Given the description of an element on the screen output the (x, y) to click on. 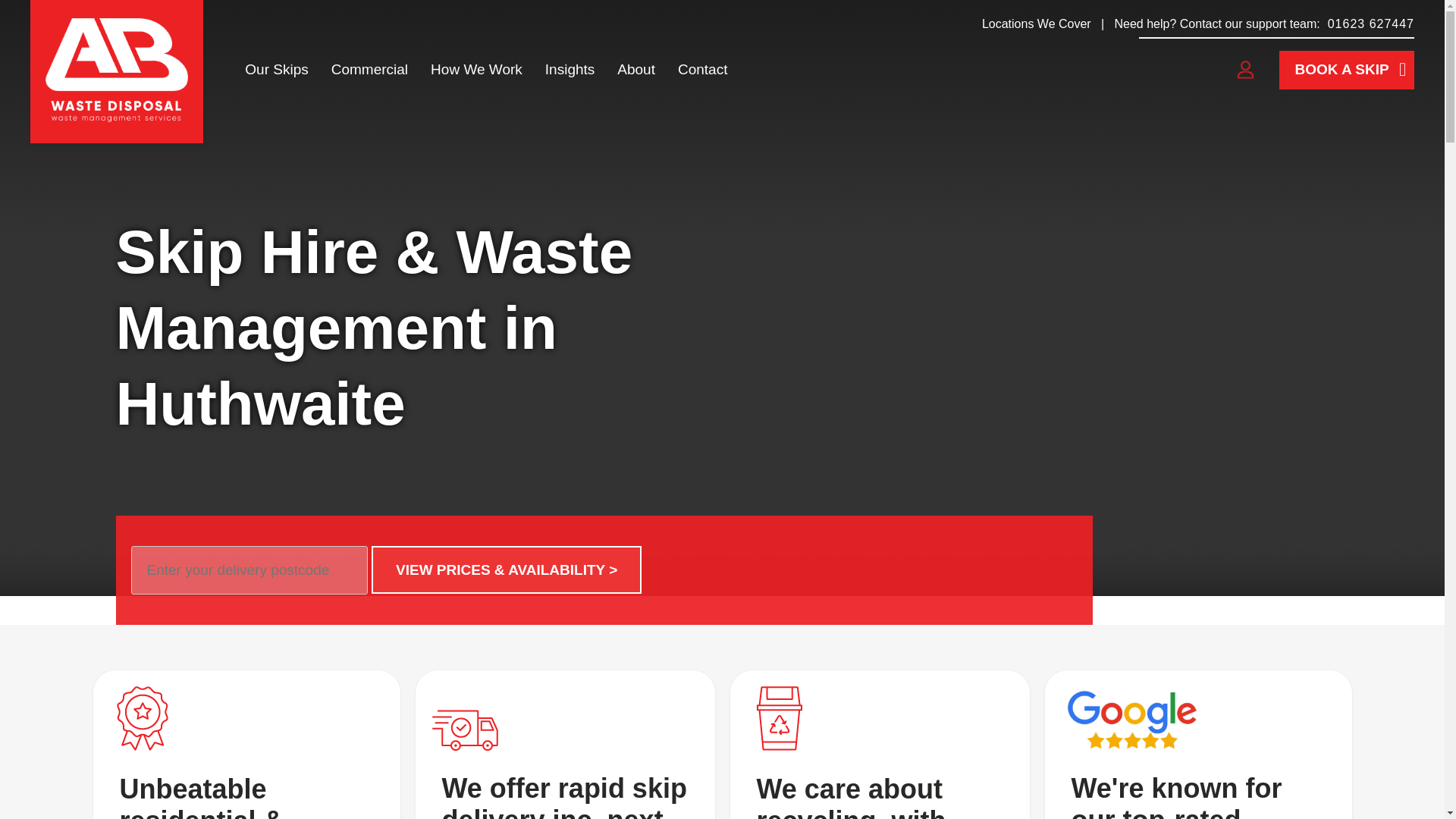
Insights (569, 69)
Locations We Cover (1035, 23)
Dark Background Medium (116, 69)
01623 627447 (1370, 23)
AB Waste Delivery Logo (464, 719)
AB Waste Largest Logo (142, 719)
About (636, 69)
Contact (702, 69)
google-reviews-logo (1131, 719)
BOOK A SKIP (1345, 69)
AB Waste Sustainability Logo (778, 719)
Commercial (368, 69)
Our Skips (276, 69)
How We Work (476, 69)
